Given the description of an element on the screen output the (x, y) to click on. 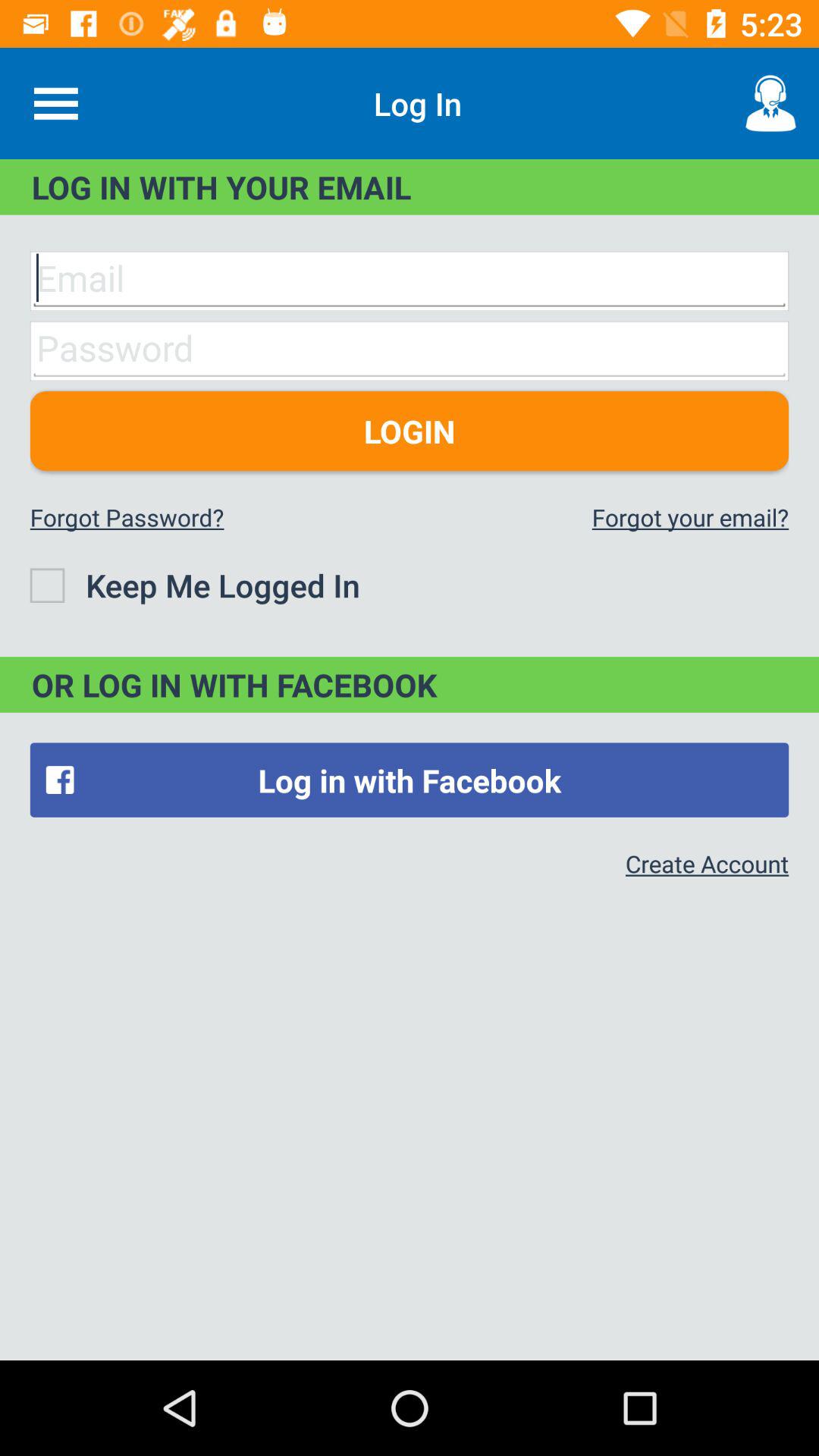
open the item next to log in (771, 103)
